Given the description of an element on the screen output the (x, y) to click on. 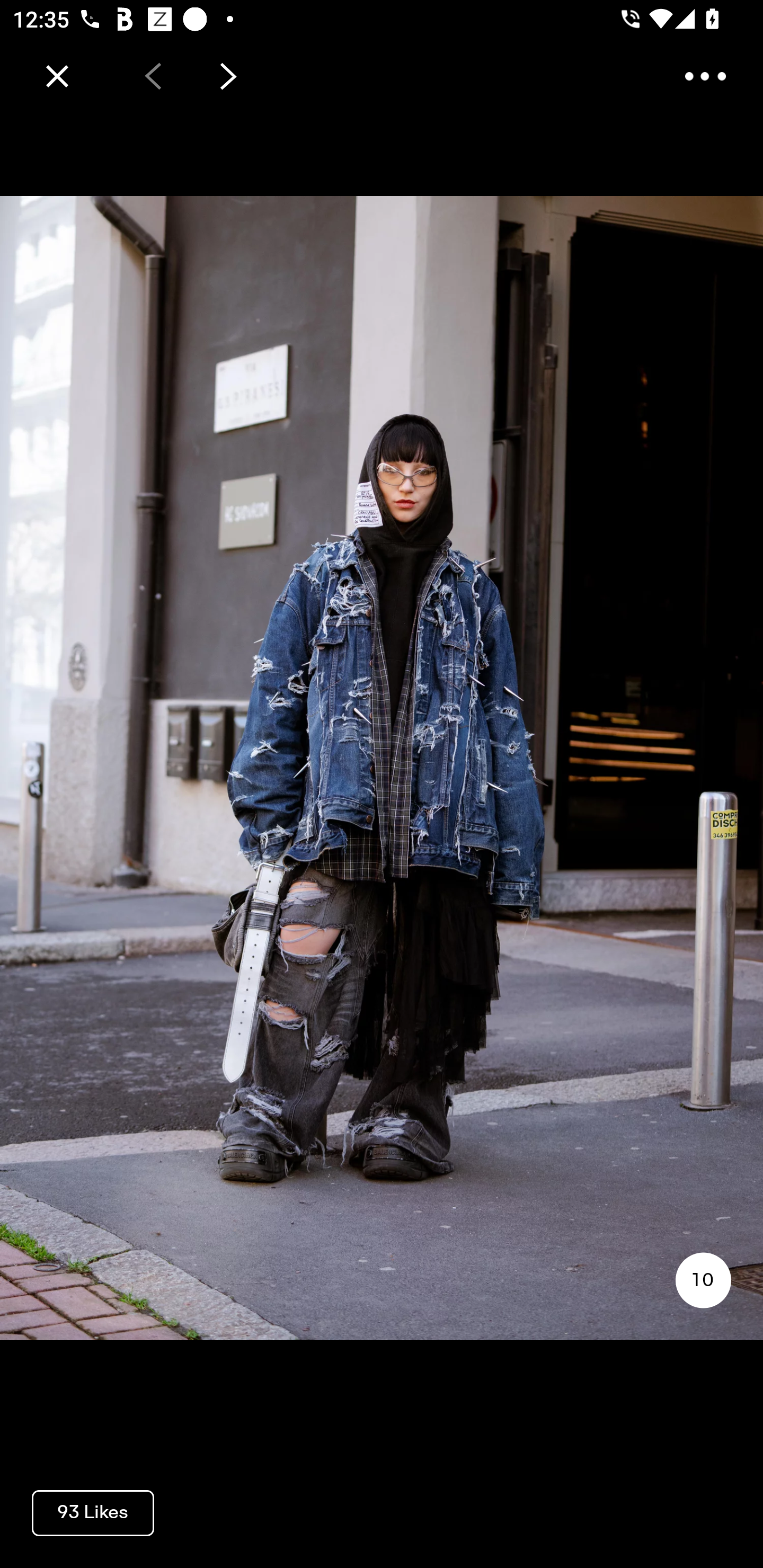
10 (702, 1279)
93 Likes (93, 1512)
